Given the description of an element on the screen output the (x, y) to click on. 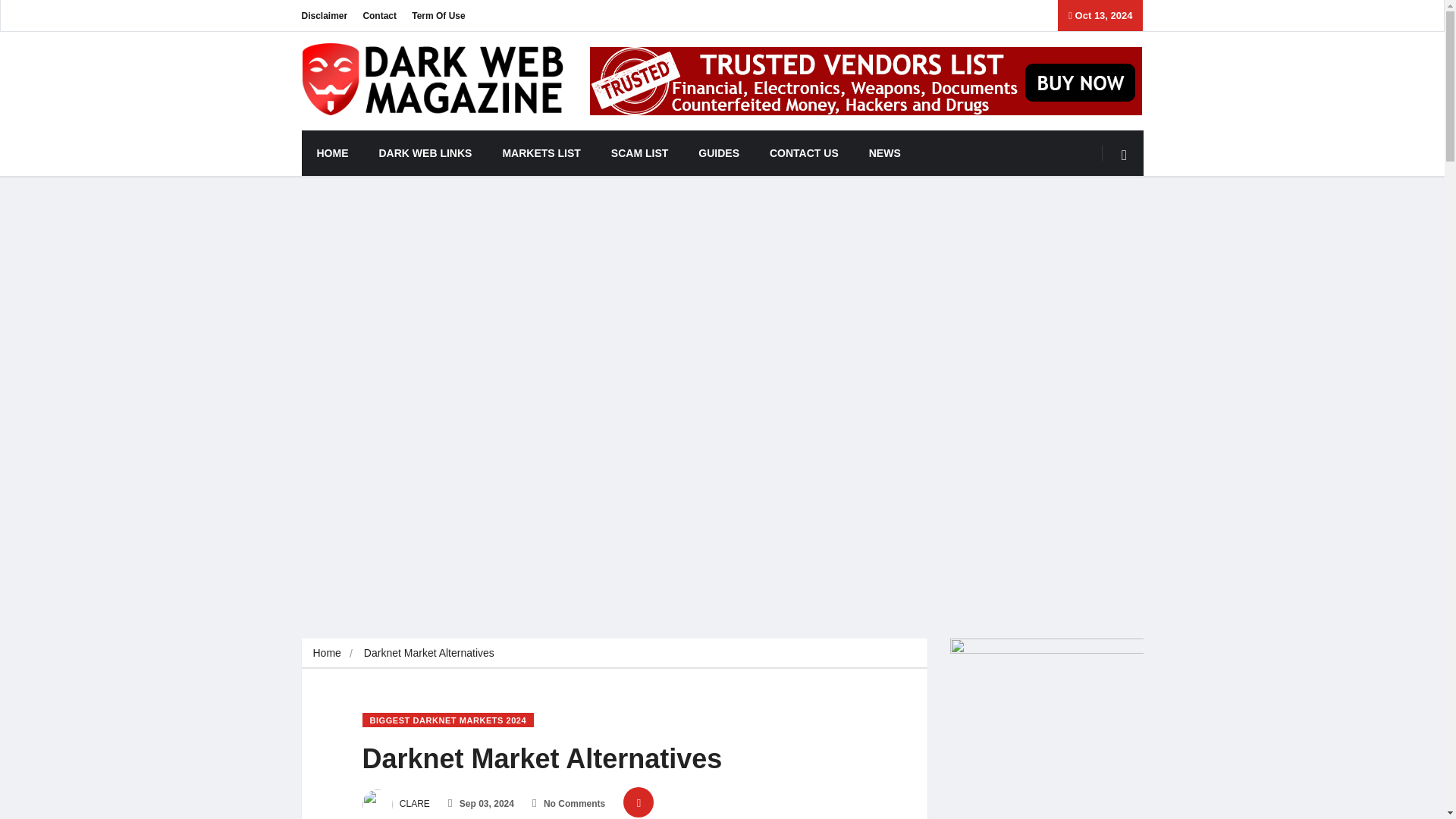
CLARE (395, 803)
BIGGEST DARKNET MARKETS 2024 (448, 719)
DARK WEB LINKS (425, 153)
SCAM LIST (638, 153)
Contact (379, 15)
CONTACT US (803, 153)
MARKETS LIST (540, 153)
Home (326, 653)
HOME (332, 153)
Term Of Use (438, 15)
